Given the description of an element on the screen output the (x, y) to click on. 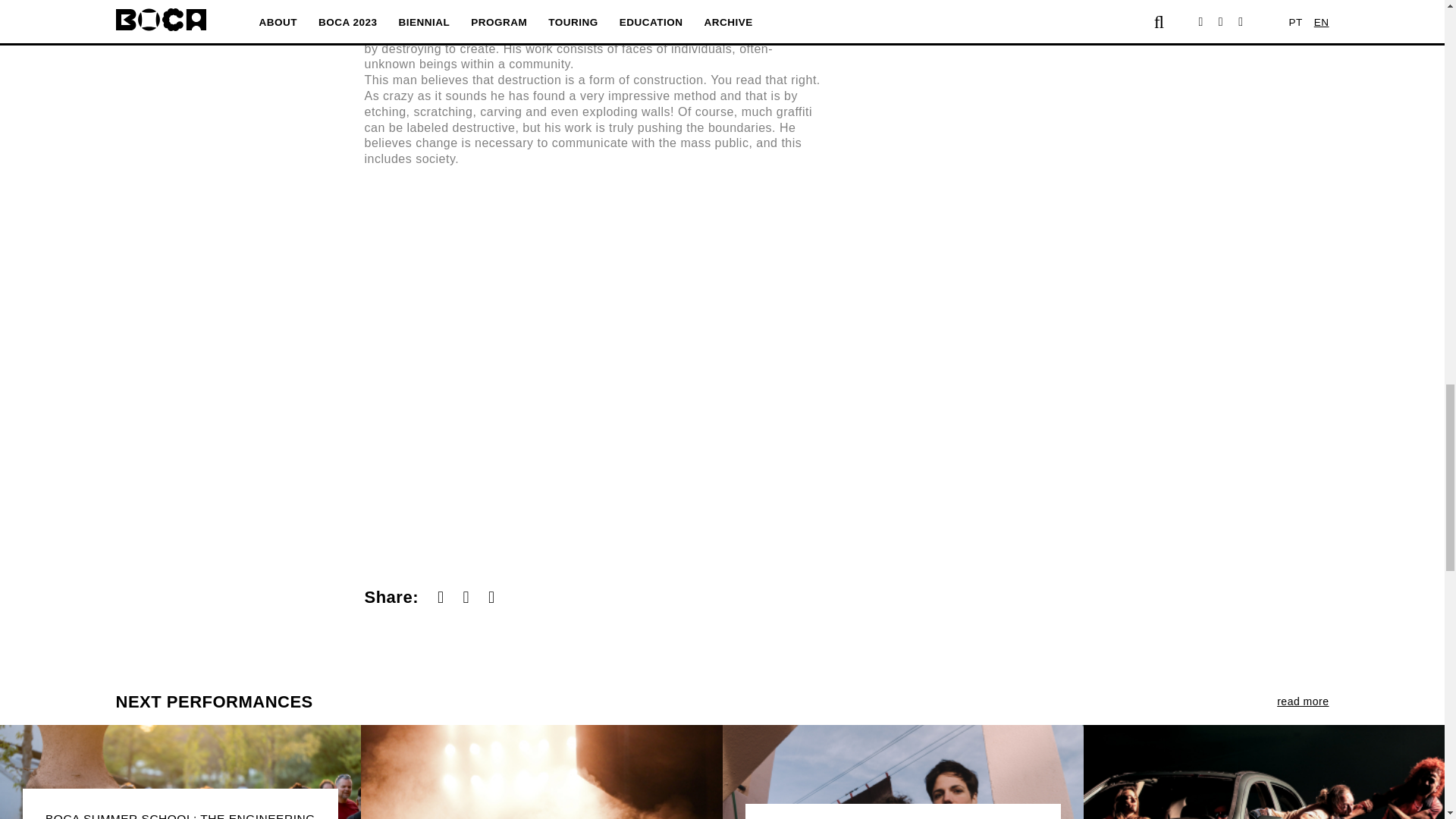
The Talking Car (541, 771)
